Given the description of an element on the screen output the (x, y) to click on. 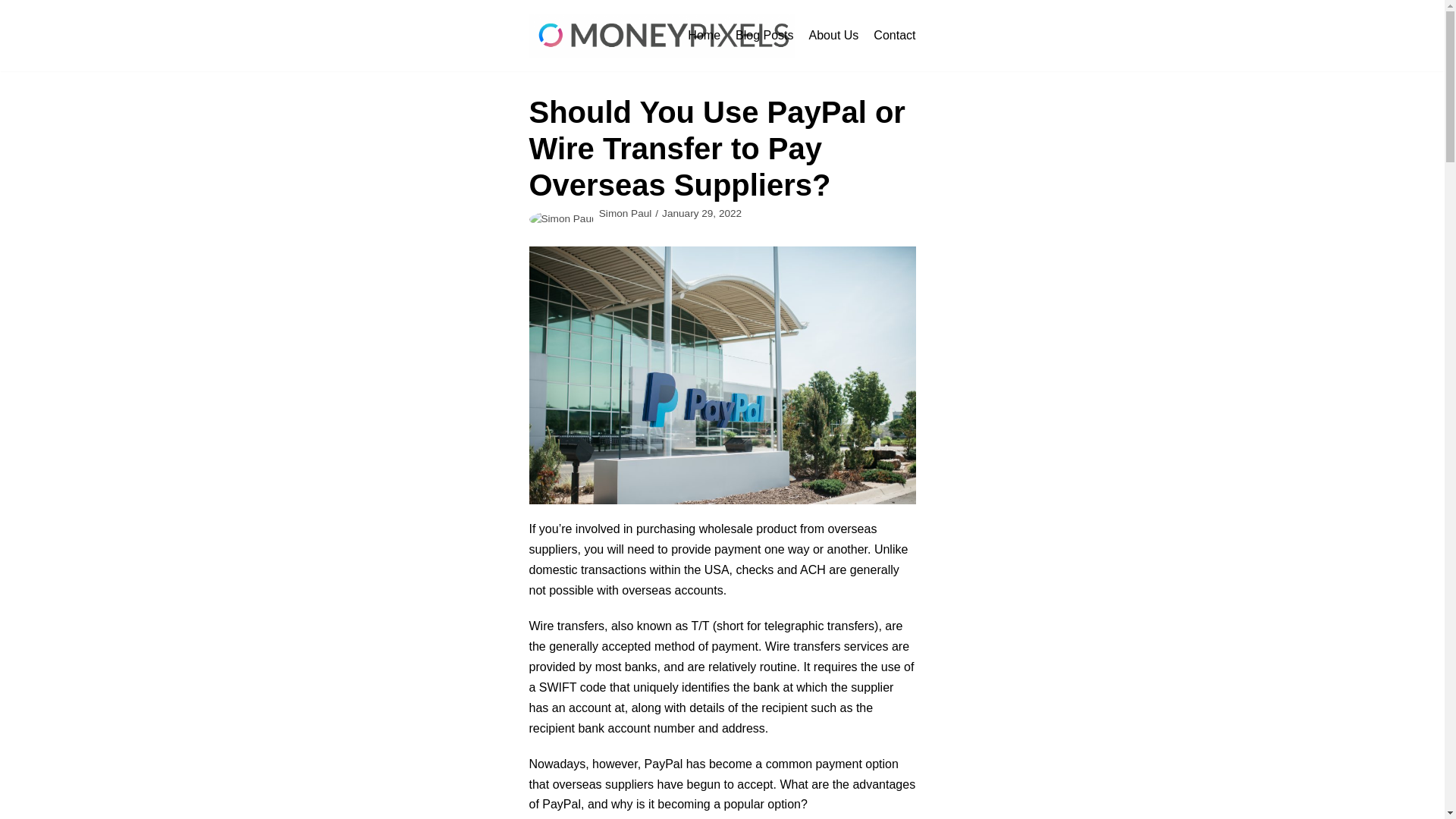
Blog Posts (764, 35)
Skip to content (15, 31)
Money Pixels (661, 35)
Simon Paul (625, 213)
Contact (894, 35)
Posts by Simon Paul (625, 213)
About Us (834, 35)
Home (703, 35)
